Given the description of an element on the screen output the (x, y) to click on. 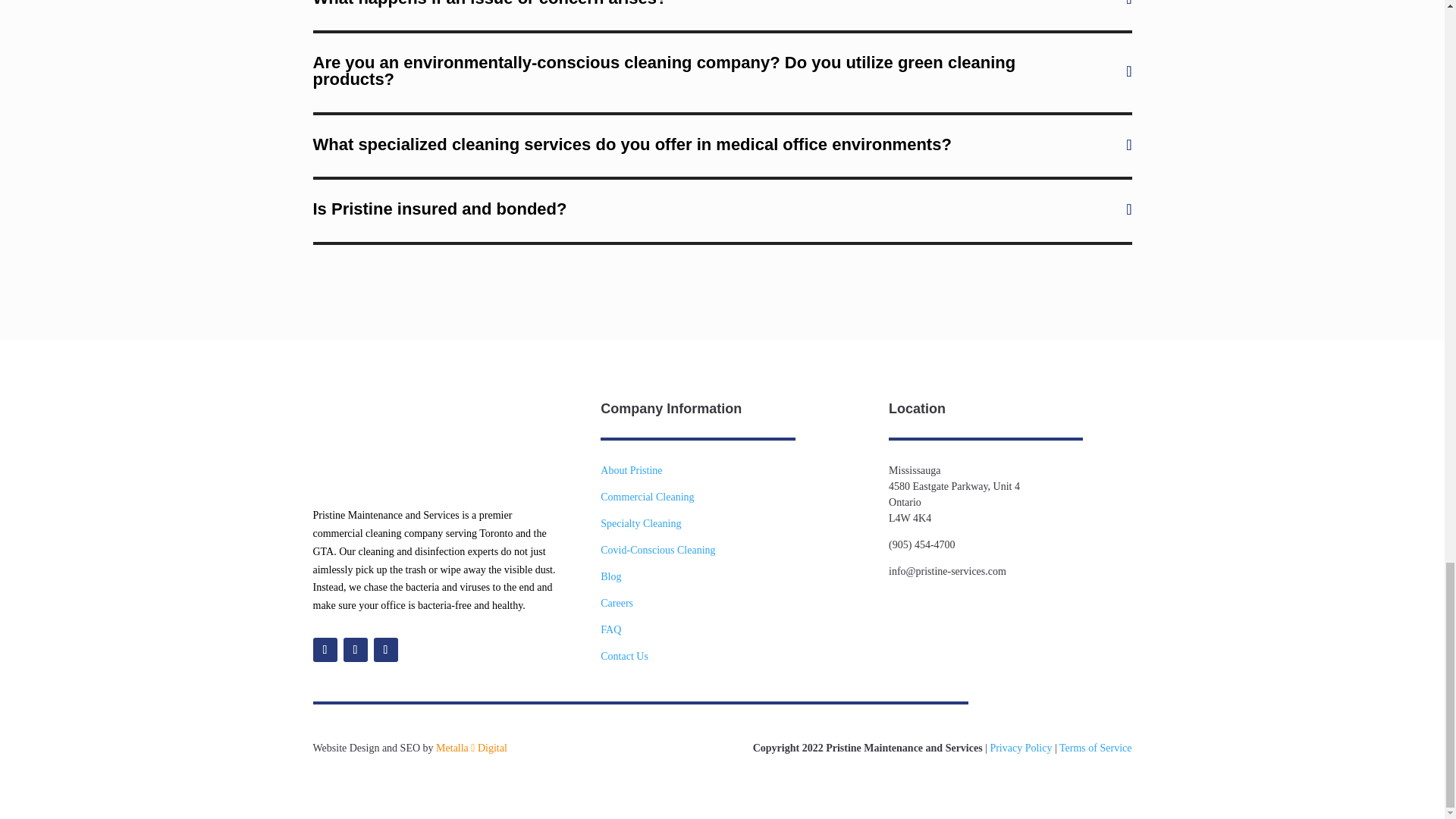
Follow on Facebook (324, 649)
Follow on LinkedIn (384, 649)
Follow on Instagram (354, 649)
Pristine-Maintanance-and-Services (385, 443)
